Given the description of an element on the screen output the (x, y) to click on. 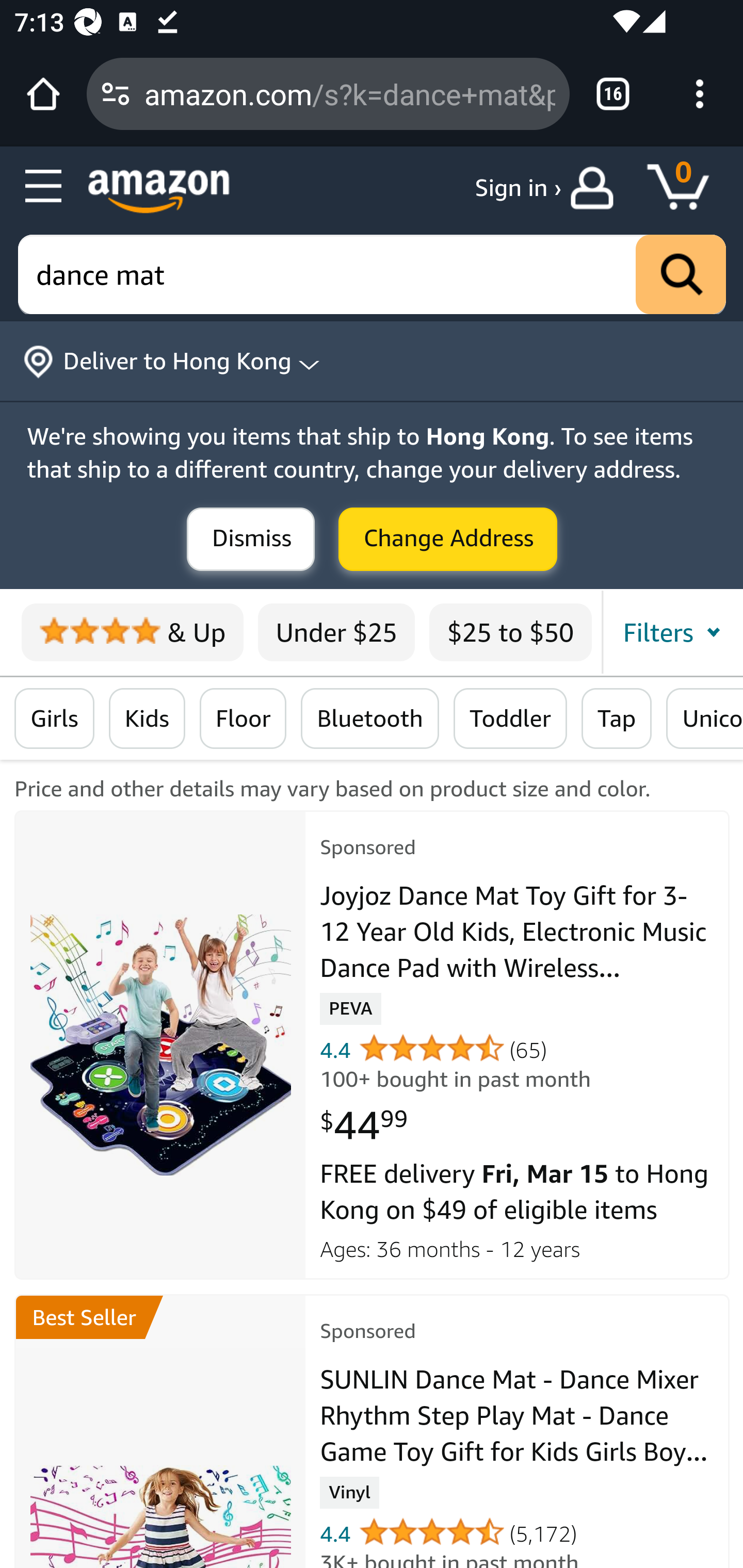
Open the home page (43, 93)
Connection is secure (115, 93)
Switch or close tabs (612, 93)
Customize and control Google Chrome (699, 93)
Open Menu (44, 187)
Sign in › (518, 188)
your account (596, 188)
Cart 0 (687, 188)
Amazon (158, 191)
dance mat (372, 275)
Go (681, 275)
Dismiss (250, 539)
Change Address (447, 539)
4 Stars & Up (132, 632)
Under $25 (336, 632)
$25 to $50 (509, 632)
$50 to $100 (673, 632)
Girls (54, 718)
Kids (146, 718)
Floor (242, 718)
Bluetooth (369, 718)
Toddler (508, 718)
Tap (616, 718)
Unicorn (703, 718)
Ages: 36 months - 12 years (517, 1246)
